Given the description of an element on the screen output the (x, y) to click on. 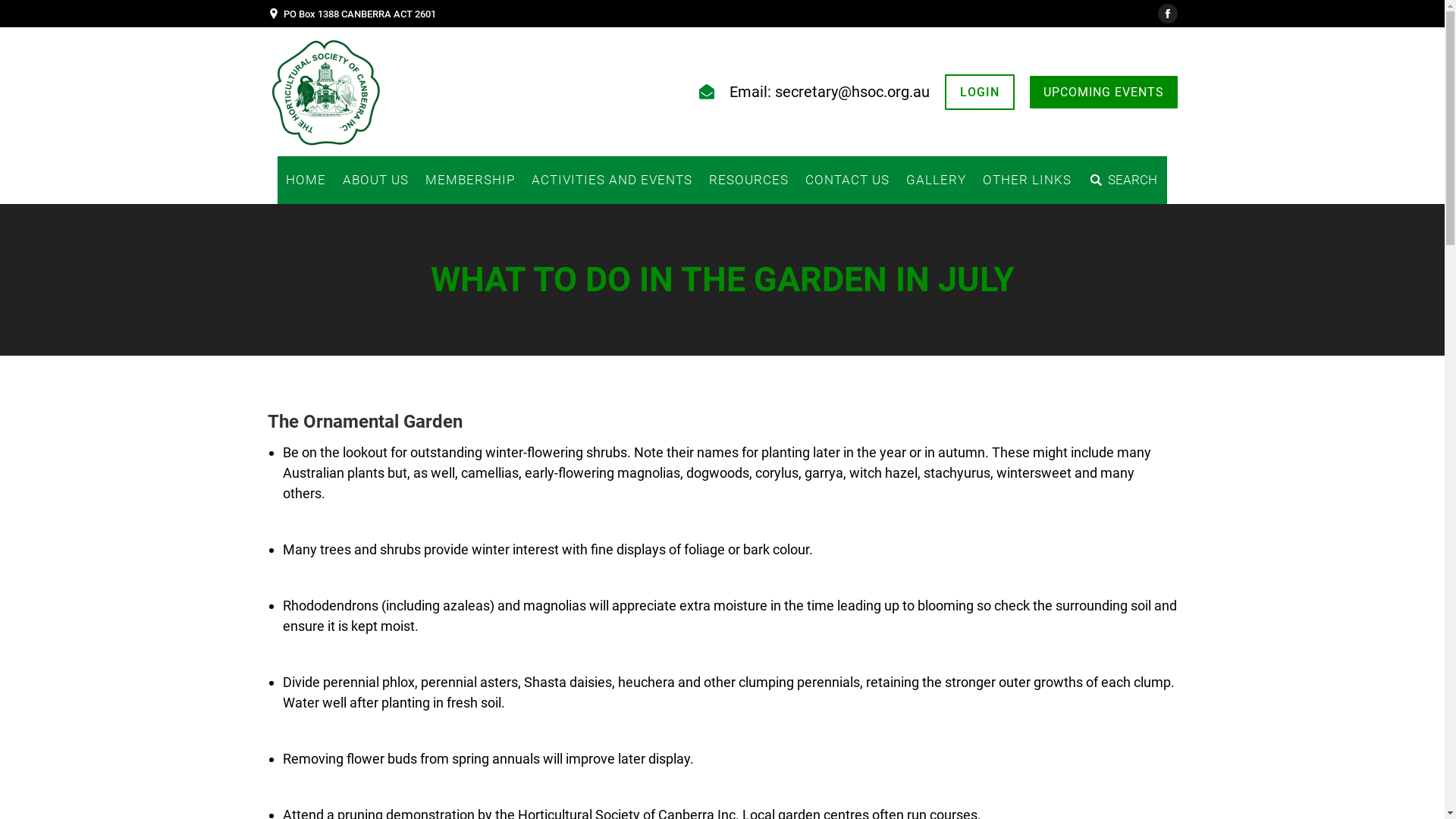
UPCOMING EVENTS Element type: text (1103, 91)
ABOUT US Element type: text (375, 179)
GALLERY Element type: text (935, 179)
OTHER LINKS Element type: text (1026, 179)
RESOURCES Element type: text (748, 179)
Go! Element type: text (21, 14)
LOGIN Element type: text (979, 91)
SEARCH Element type: text (1122, 180)
ACTIVITIES AND EVENTS Element type: text (611, 179)
HOME Element type: text (305, 179)
Facebook Element type: text (1166, 13)
Email: secretary@hsoc.org.au Element type: text (829, 91)
CONTACT US Element type: text (847, 179)
MEMBERSHIP Element type: text (470, 179)
